Given the description of an element on the screen output the (x, y) to click on. 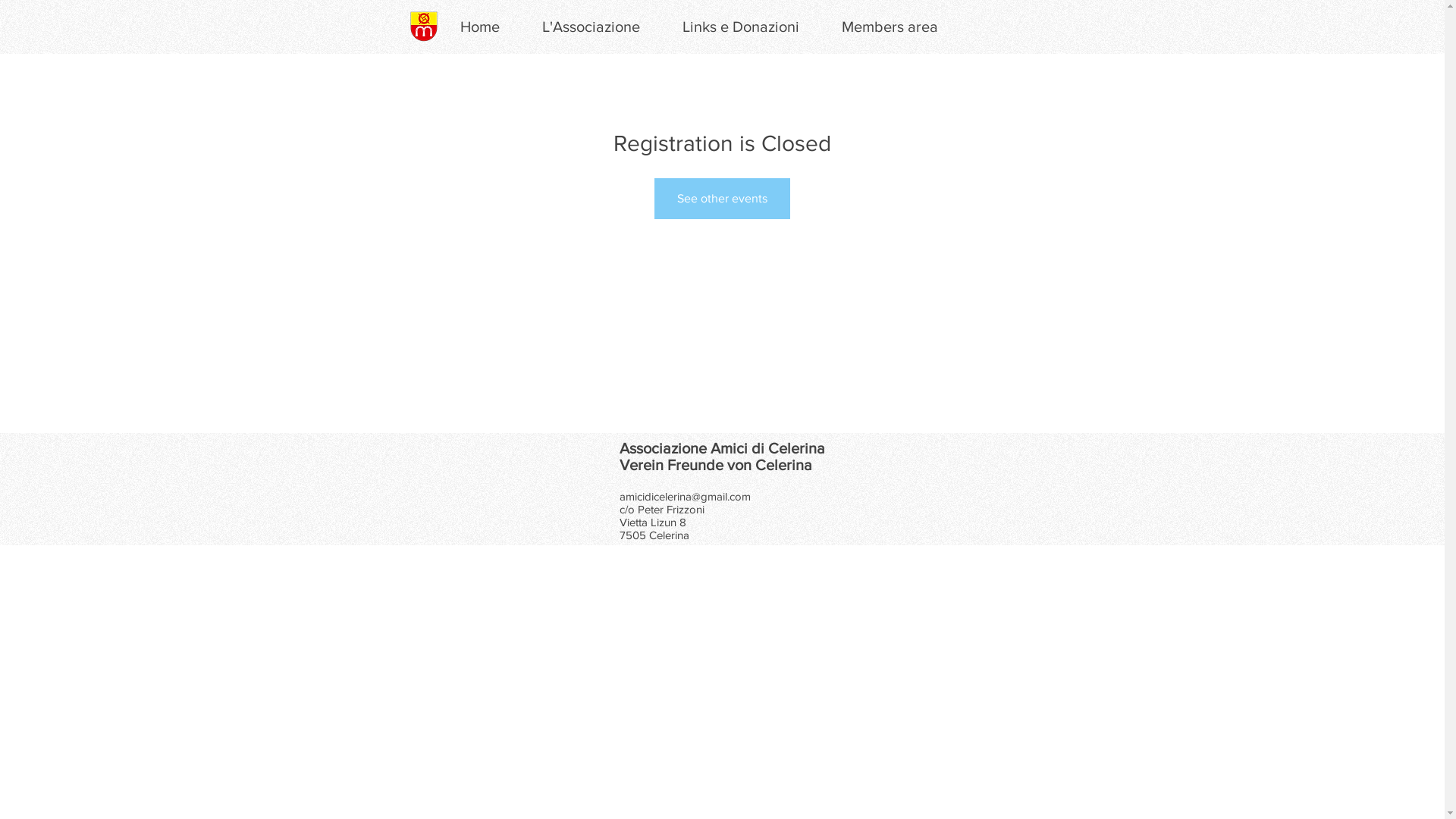
Home Element type: text (479, 26)
Links e Donazioni Element type: text (740, 26)
Members area Element type: text (889, 26)
See other events Element type: text (722, 198)
amicidicelerina@gmail.com Element type: text (683, 495)
L'Associazione Element type: text (590, 26)
